Given the description of an element on the screen output the (x, y) to click on. 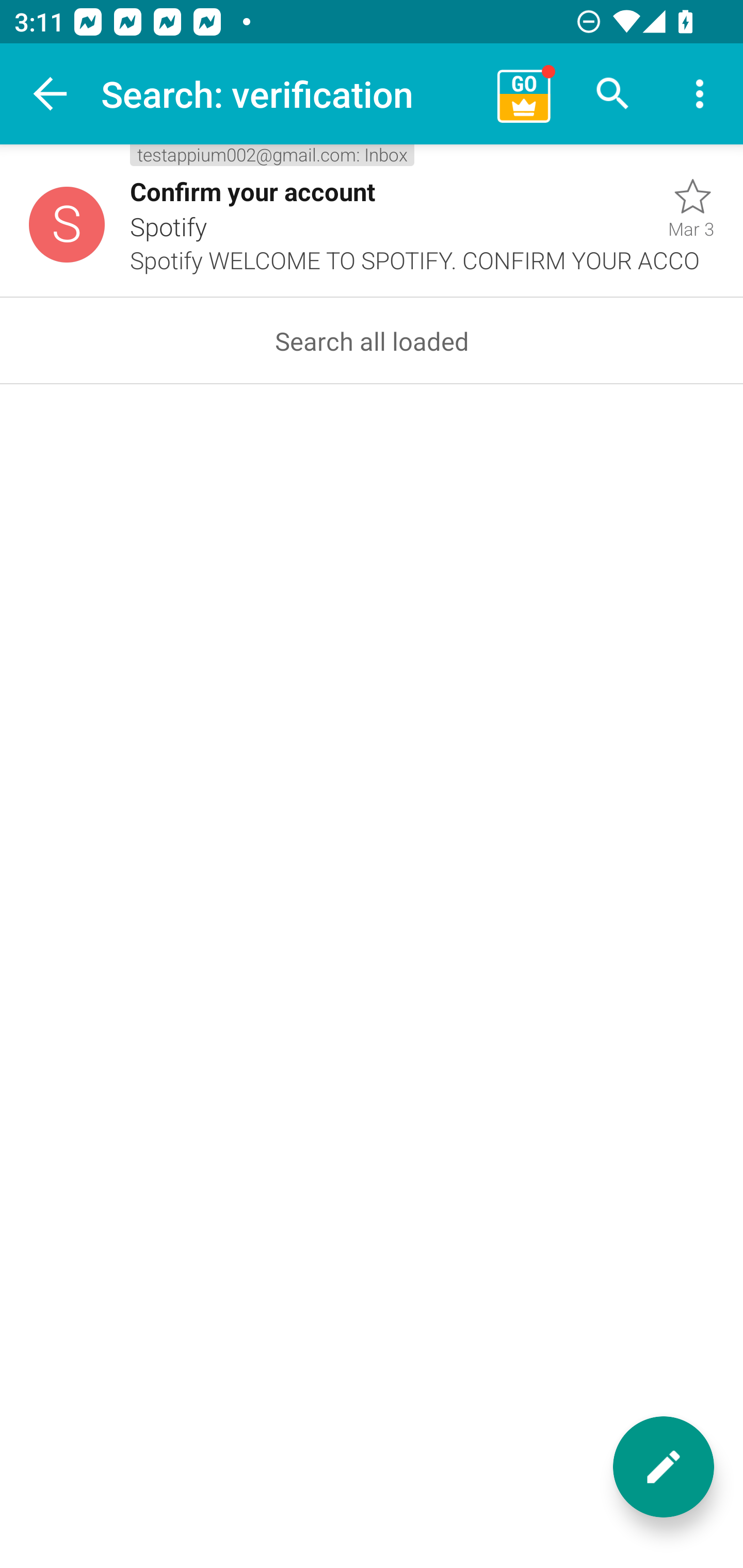
Navigate up (50, 93)
Search (612, 93)
More options (699, 93)
Search all loaded (371, 340)
New message (663, 1466)
